Given the description of an element on the screen output the (x, y) to click on. 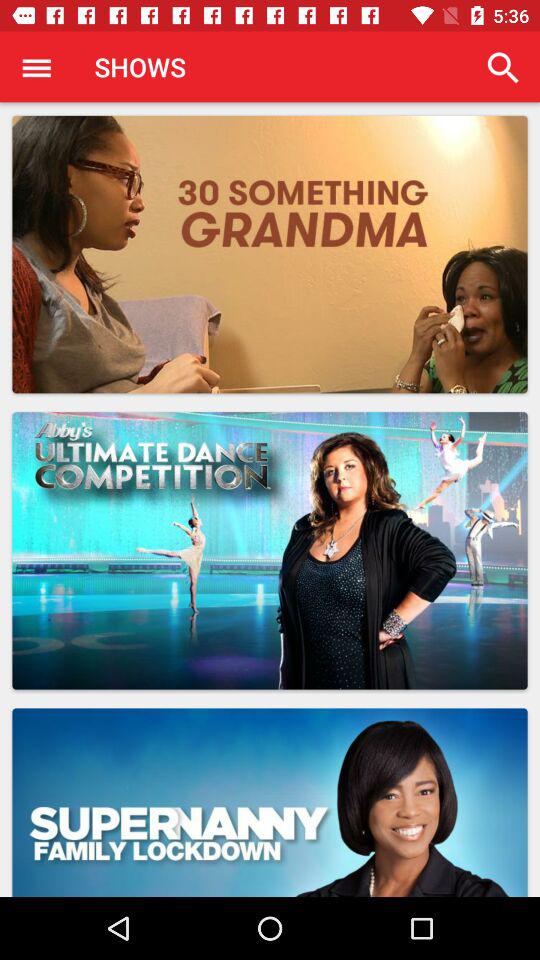
turn off icon to the right of the shows app (503, 67)
